Given the description of an element on the screen output the (x, y) to click on. 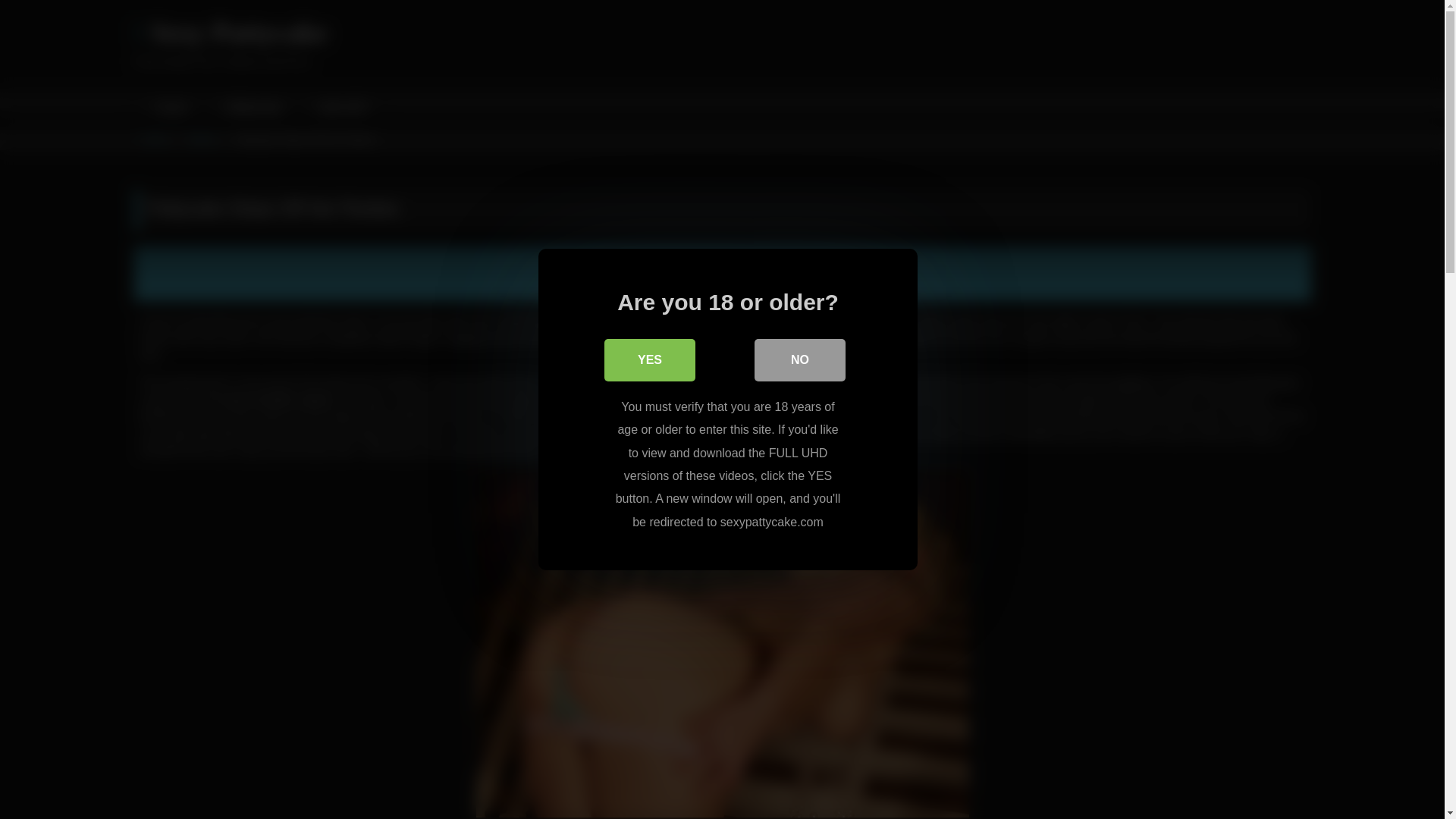
Home (169, 108)
Click Here For Membership to Full-Length Video! (721, 273)
Sexy Pattycake videos (611, 320)
Videos (201, 138)
Pattycake Strips Off Her Panties (721, 273)
Home (155, 138)
Official Site (250, 108)
Sexy Pattycake (229, 32)
up-skirt shoots (573, 382)
YES (649, 360)
NO (799, 360)
